Given the description of an element on the screen output the (x, y) to click on. 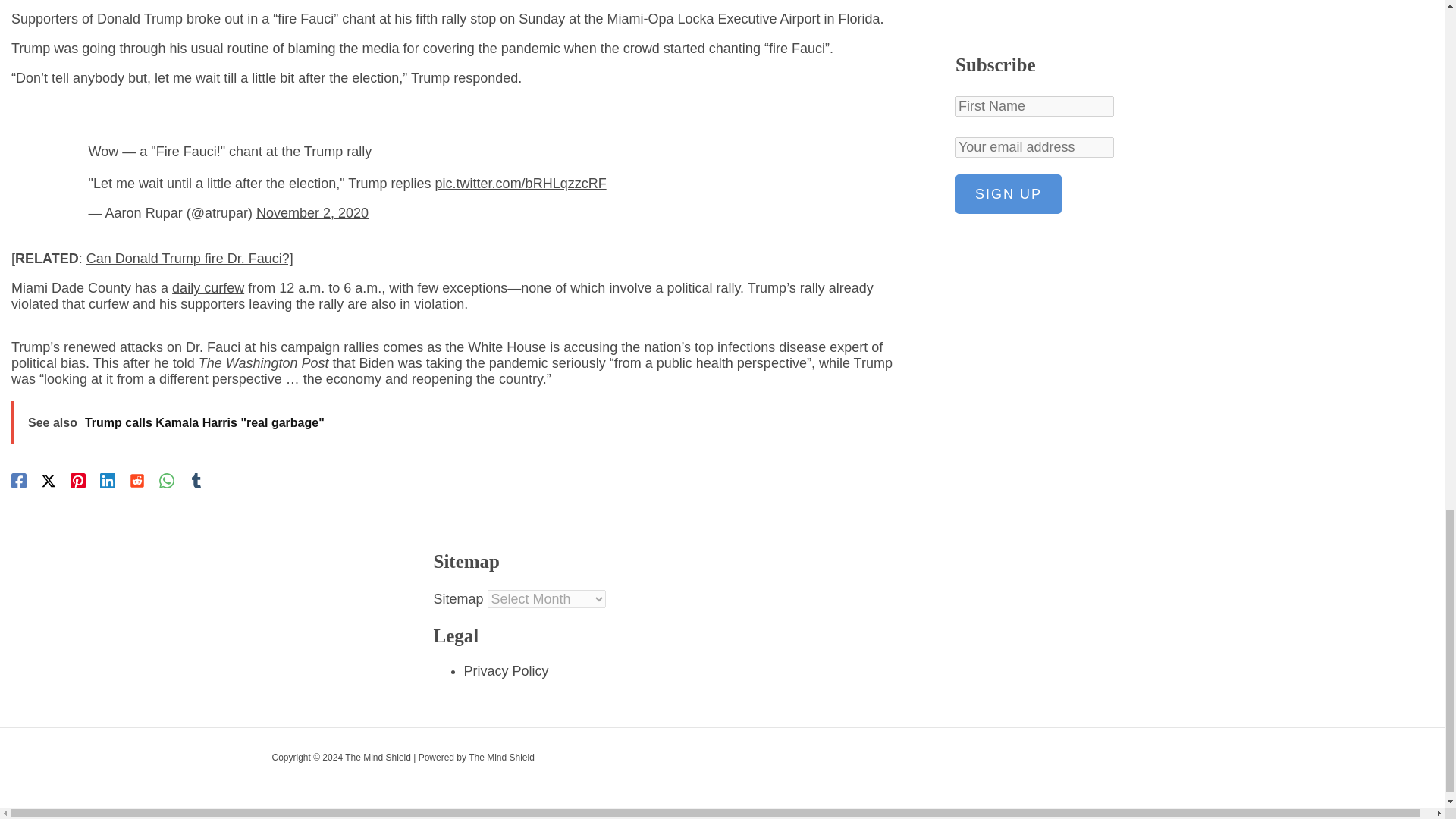
Sign up (1008, 27)
The Washington Post (263, 363)
daily curfew (207, 287)
See also  Trump calls Kamala Harris "real garbage" (456, 422)
November 2, 2020 (312, 212)
